Given the description of an element on the screen output the (x, y) to click on. 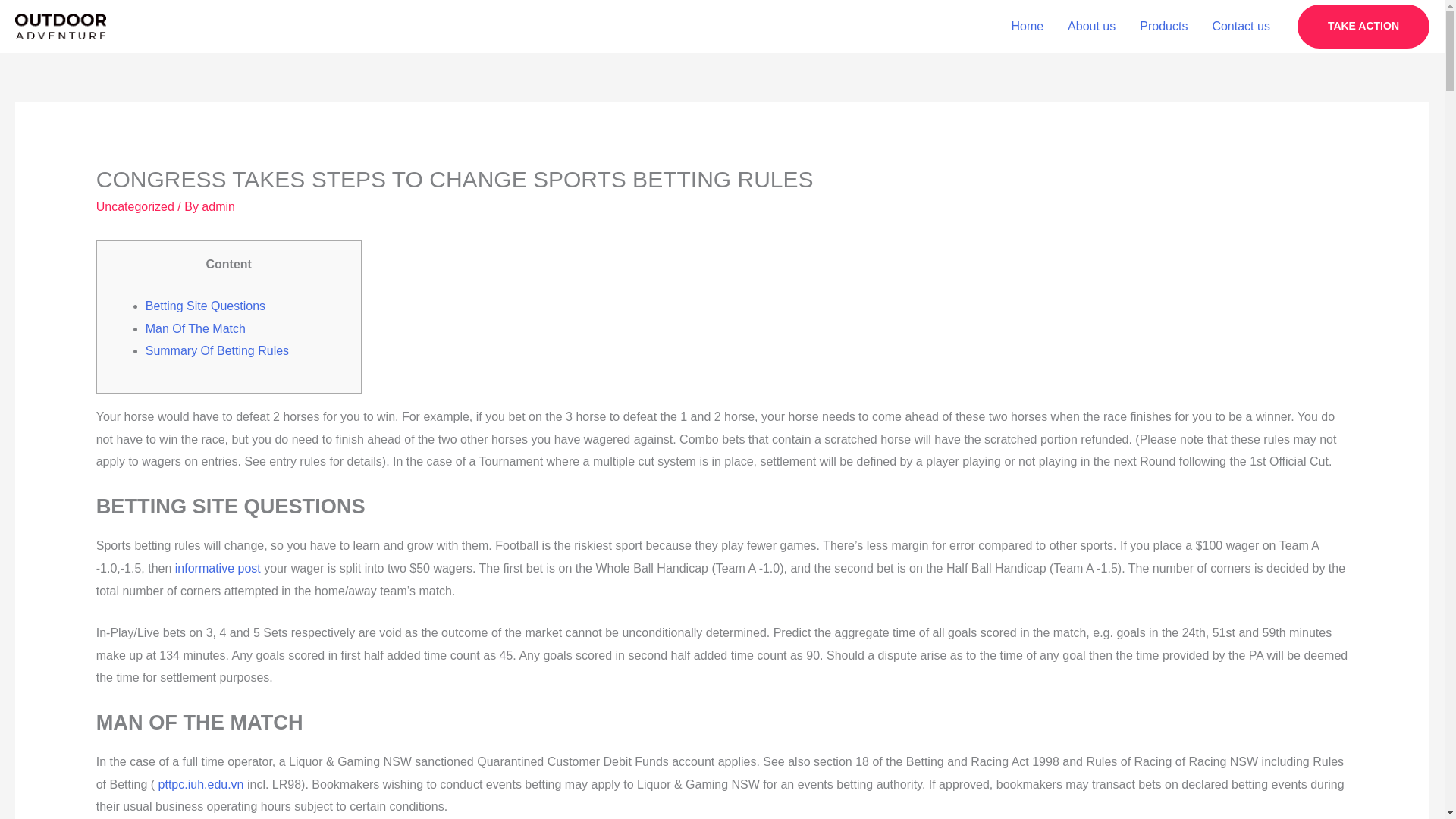
TAKE ACTION (1363, 26)
About us (1090, 26)
Man Of The Match (195, 328)
Products (1162, 26)
View all posts by admin (218, 205)
pttpc.iuh.edu.vn (201, 784)
admin (218, 205)
Betting Site Questions (204, 305)
Summary Of Betting Rules (216, 350)
informative post (217, 567)
